Given the description of an element on the screen output the (x, y) to click on. 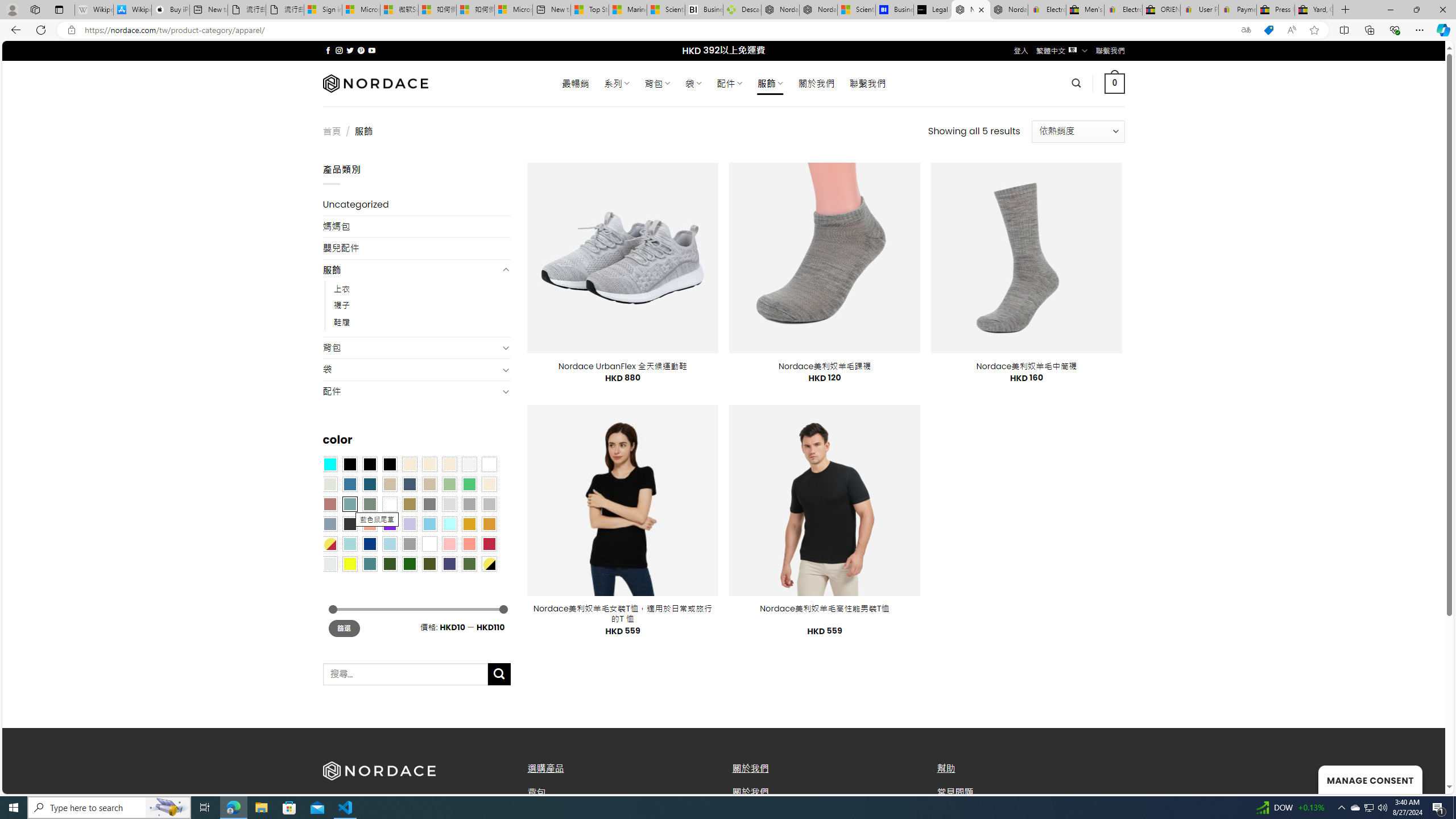
App bar (728, 29)
Payments Terms of Use | eBay.com (1237, 9)
Follow on YouTube (371, 50)
